Given the description of an element on the screen output the (x, y) to click on. 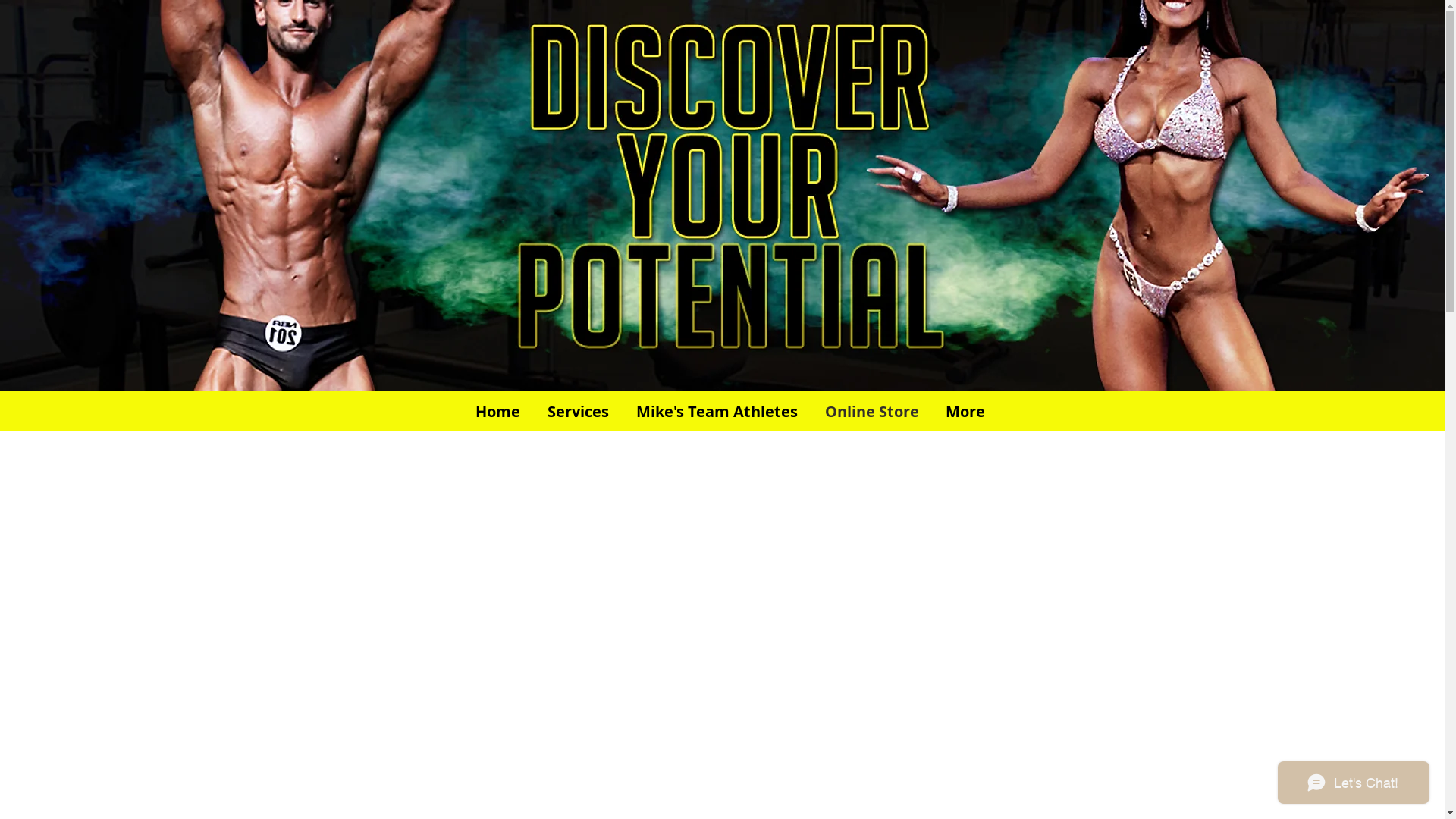
Mike's Team Athletes Element type: text (715, 411)
Home Element type: text (497, 411)
Online Store Element type: text (871, 411)
